Given the description of an element on the screen output the (x, y) to click on. 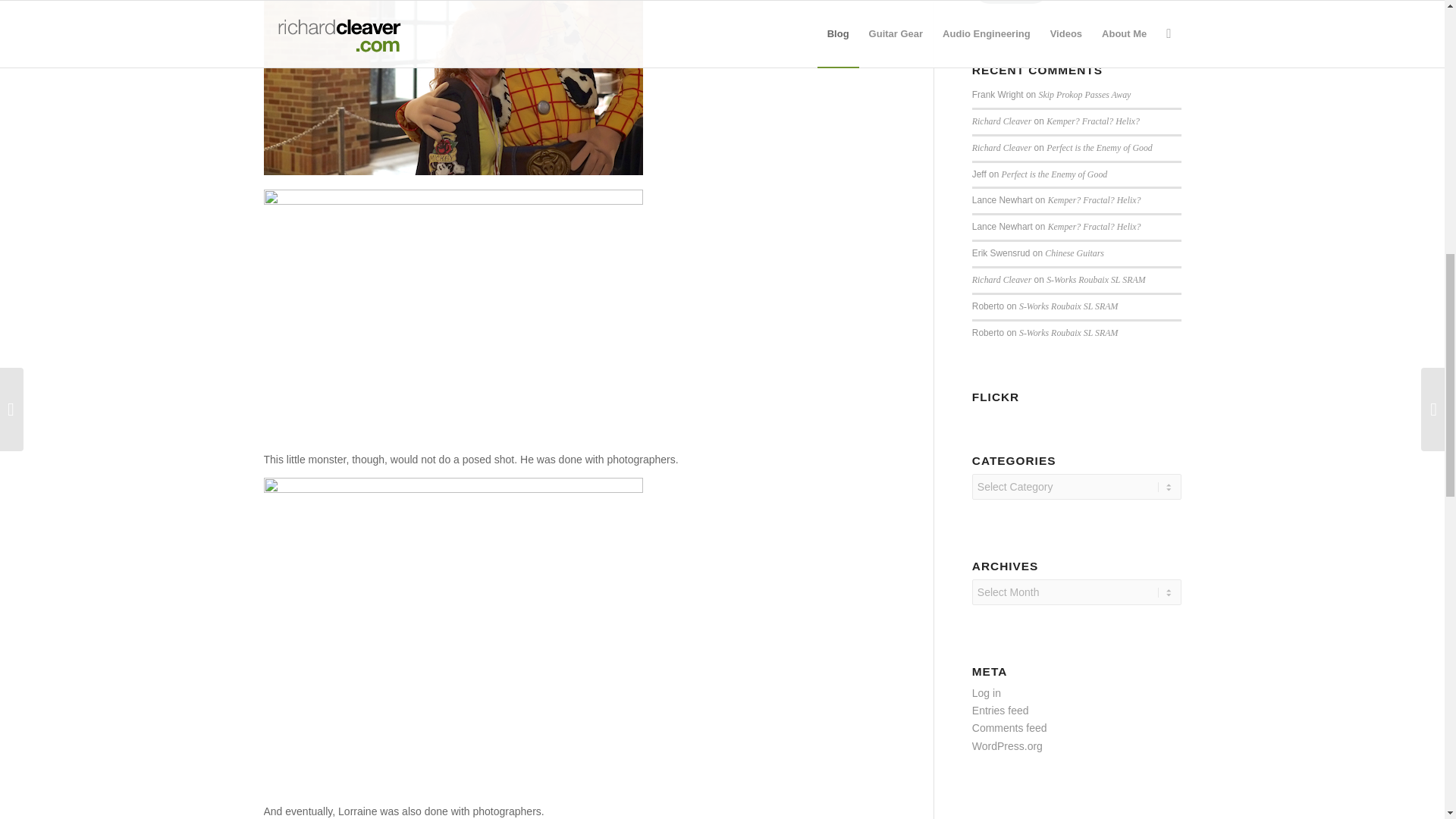
Richard Cleaver (1001, 121)
Kemper? Fractal? Helix? (1093, 121)
S-Works Roubaix SL SRAM (1068, 332)
Chinese Guitars (1074, 253)
DSCF2991 (453, 315)
Skip Prokop Passes Away (1084, 94)
DSCF2984 (453, 87)
Richard Cleaver (1001, 279)
Kemper? Fractal? Helix? (1094, 226)
Perfect is the Enemy of Good (1099, 147)
